Given the description of an element on the screen output the (x, y) to click on. 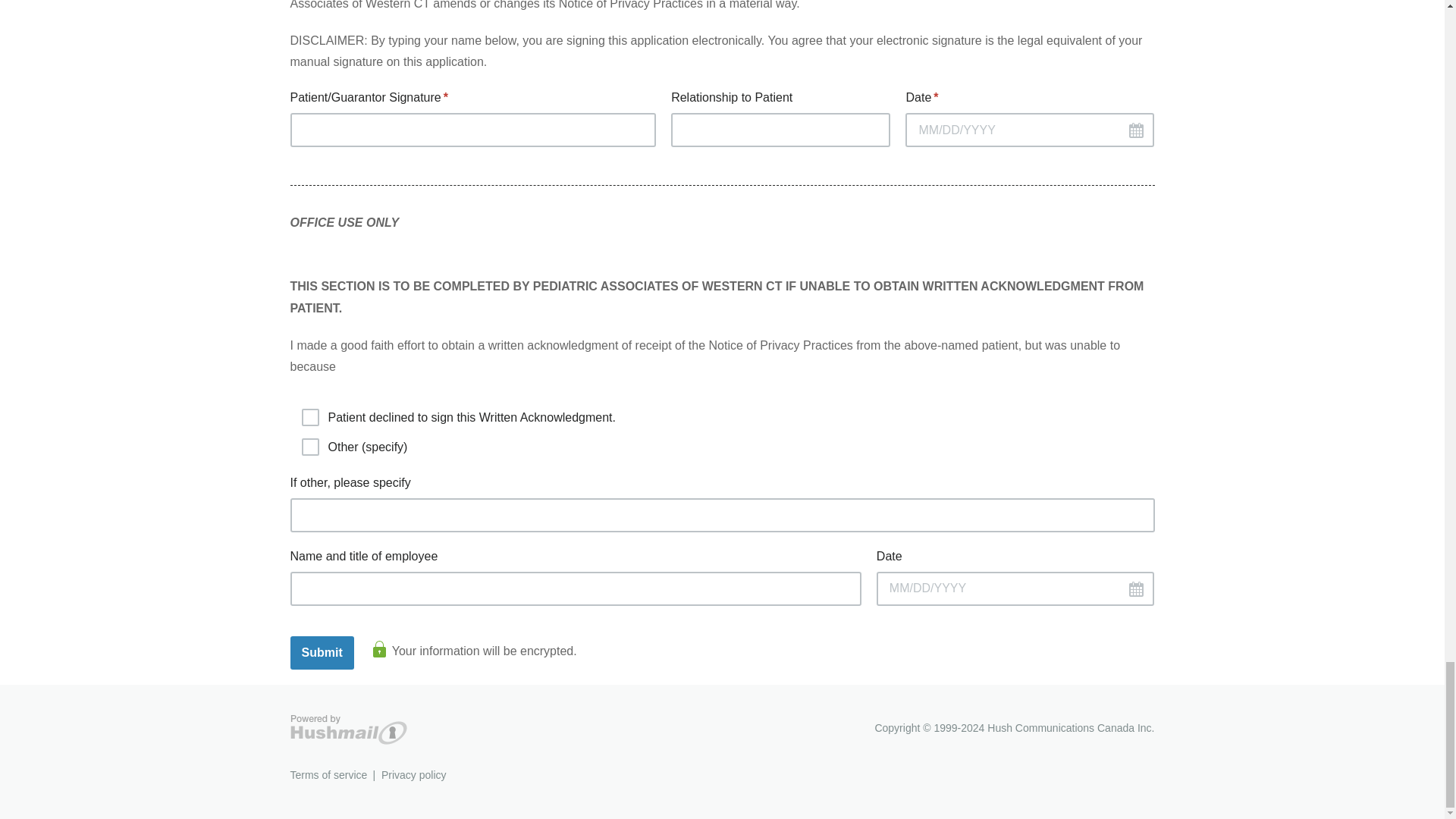
Privacy policy (413, 774)
Submit (321, 652)
Hushmail (347, 729)
Terms of service (327, 774)
